Given the description of an element on the screen output the (x, y) to click on. 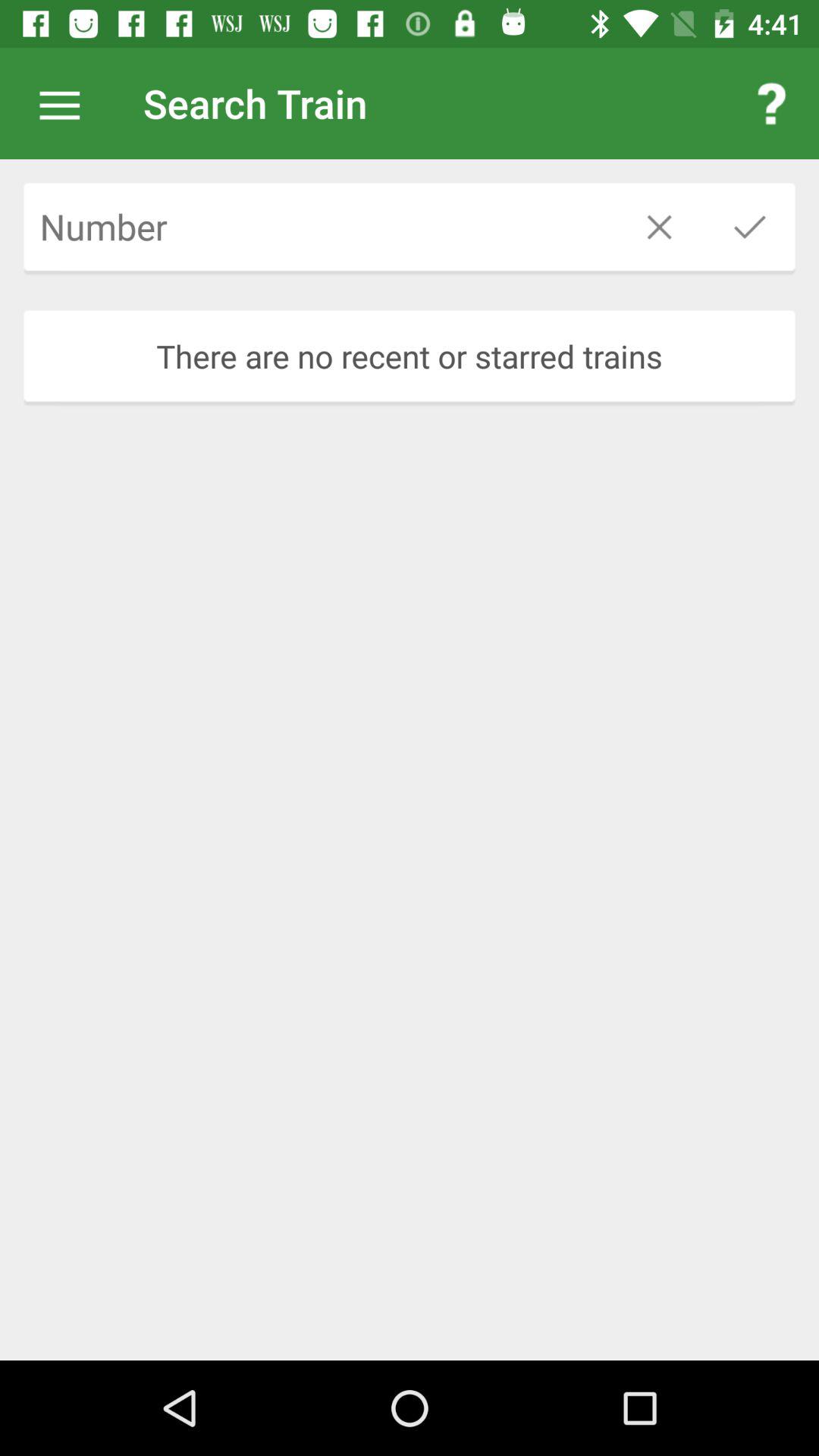
turn off item next to search train (67, 103)
